Given the description of an element on the screen output the (x, y) to click on. 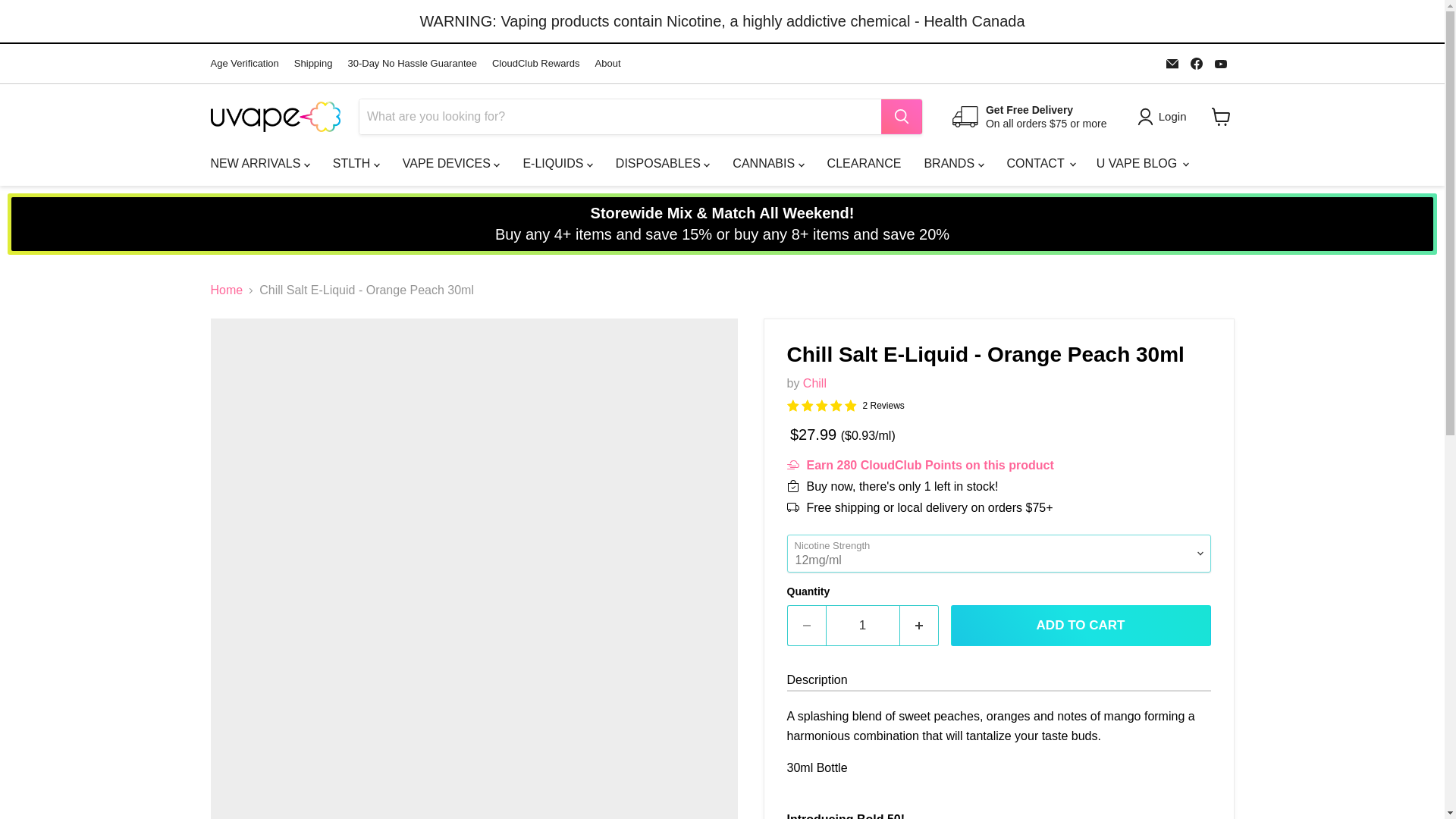
CloudClub Rewards (535, 63)
Shipping (313, 63)
About (608, 63)
1 (862, 625)
Chill (815, 382)
View cart (1221, 116)
Find us on YouTube (1220, 63)
YouTube (1220, 63)
Login (1164, 116)
Age Verification (245, 63)
